Given the description of an element on the screen output the (x, y) to click on. 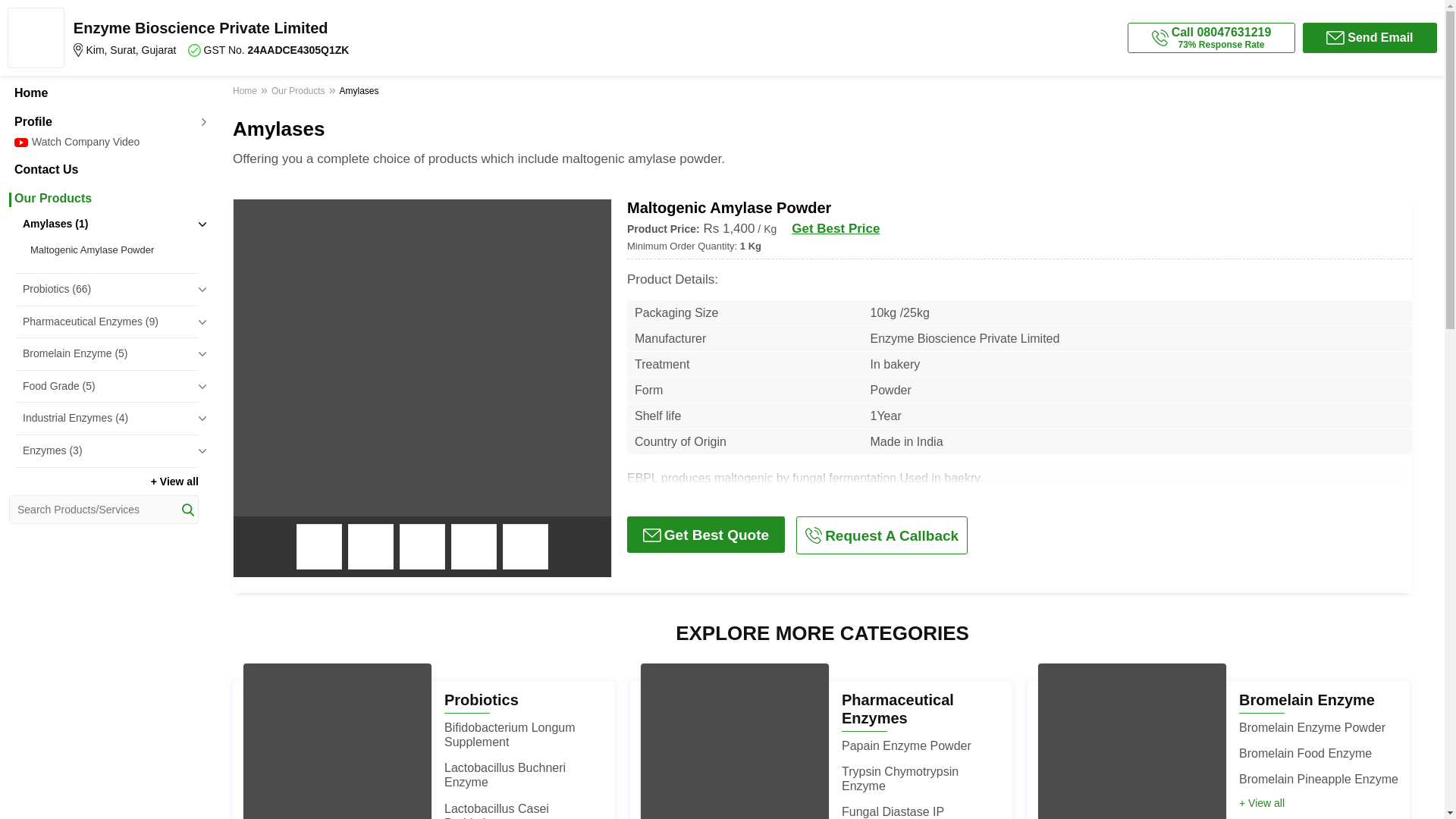
Contact Us (103, 169)
Maltogenic Amylase Powder (110, 250)
Profile (103, 121)
Our Products (103, 198)
Home (103, 92)
